Given the description of an element on the screen output the (x, y) to click on. 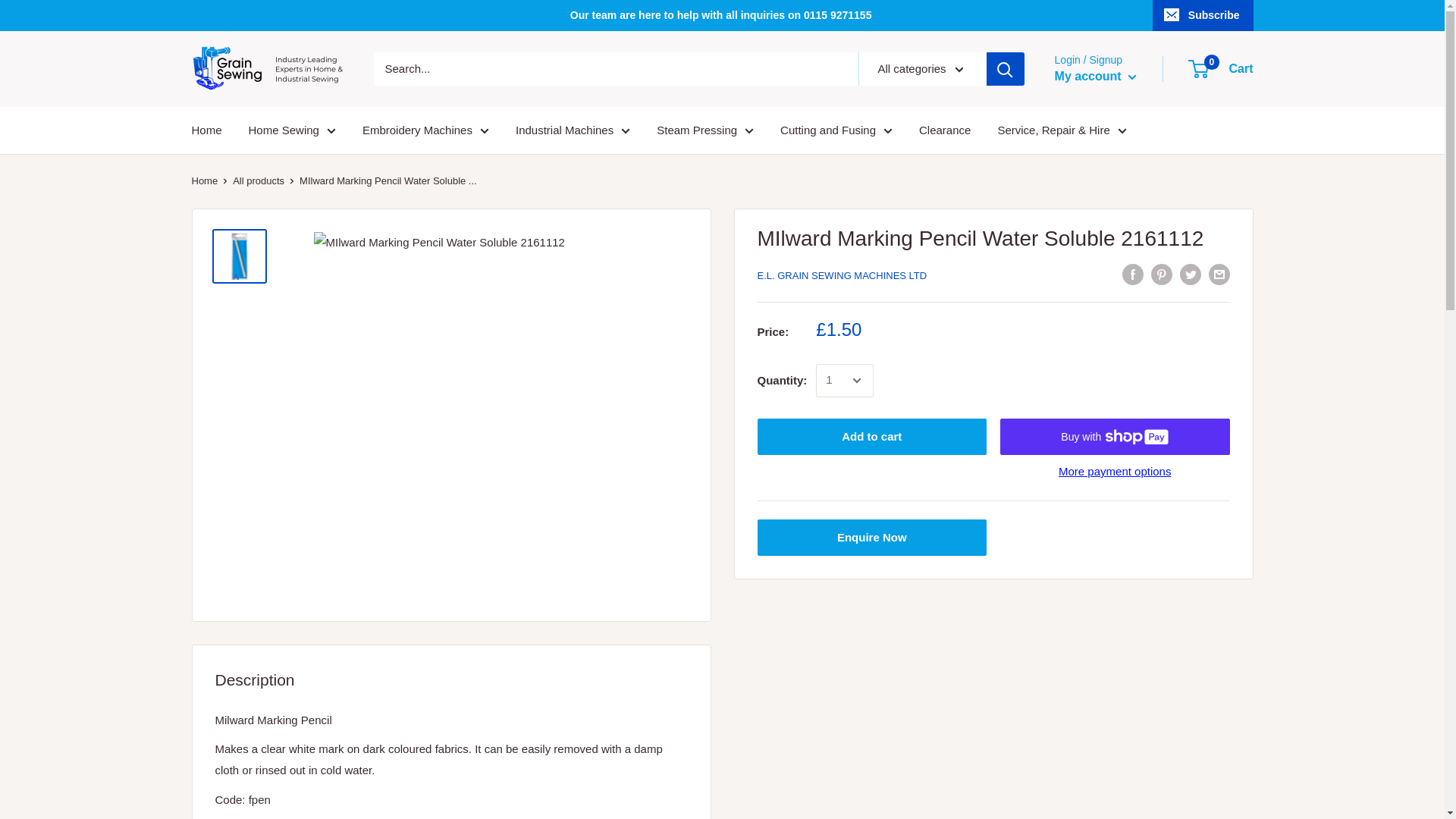
Subscribe (1203, 15)
